Given the description of an element on the screen output the (x, y) to click on. 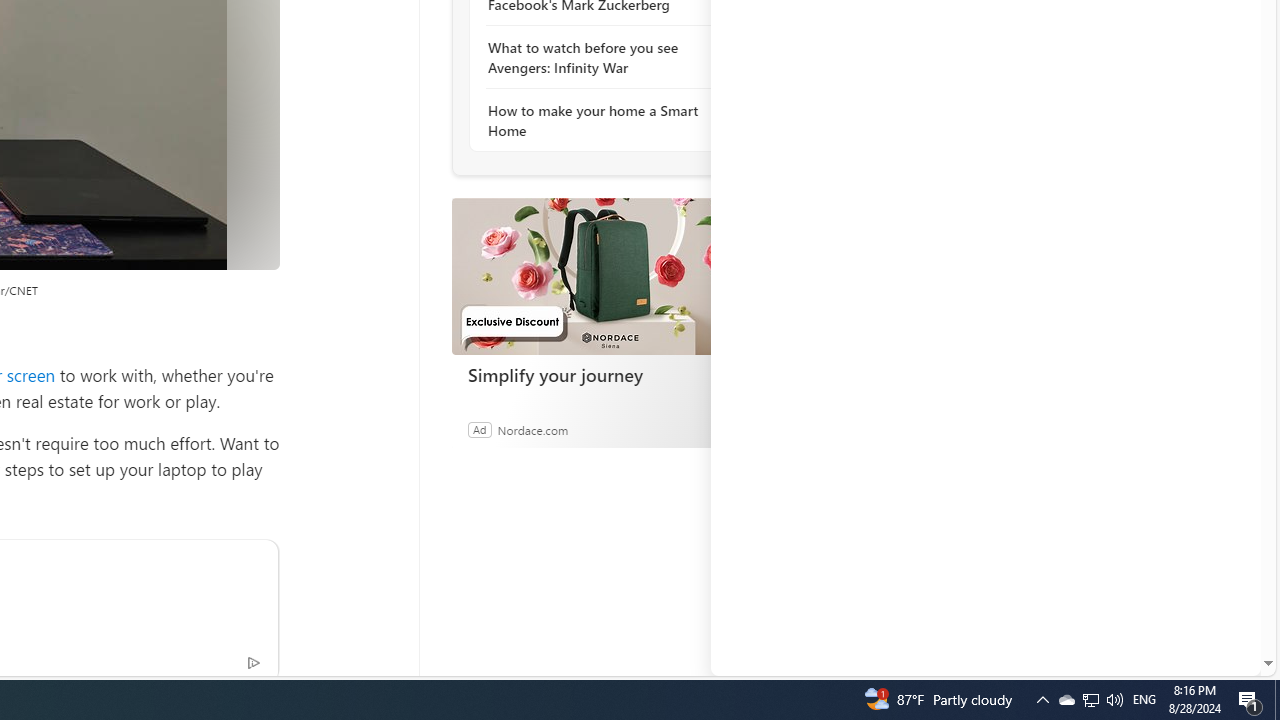
Simplify your journey (601, 276)
How to make your home a Smart Home (596, 120)
What to watch before you see Avengers: Infinity War (596, 57)
Nordace.com (532, 429)
Simplify your journey (601, 374)
